Given the description of an element on the screen output the (x, y) to click on. 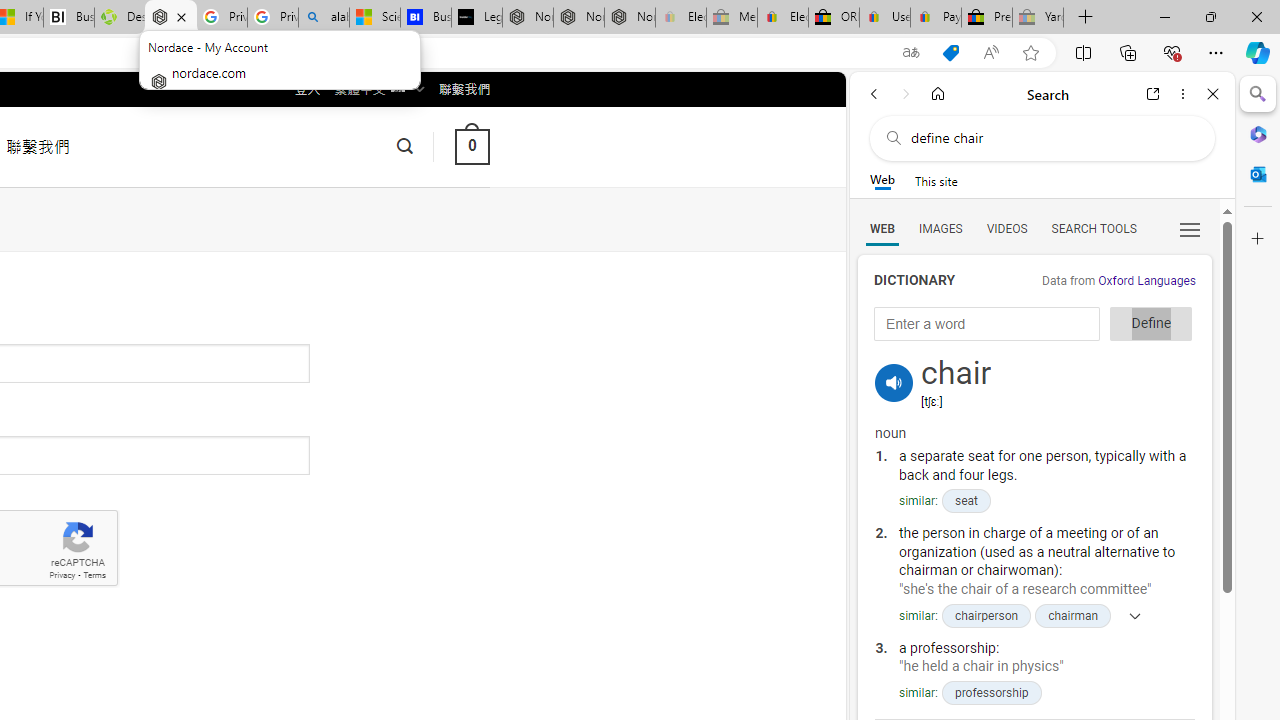
chairperson (985, 615)
  0   (472, 146)
Define (1150, 323)
